Given the description of an element on the screen output the (x, y) to click on. 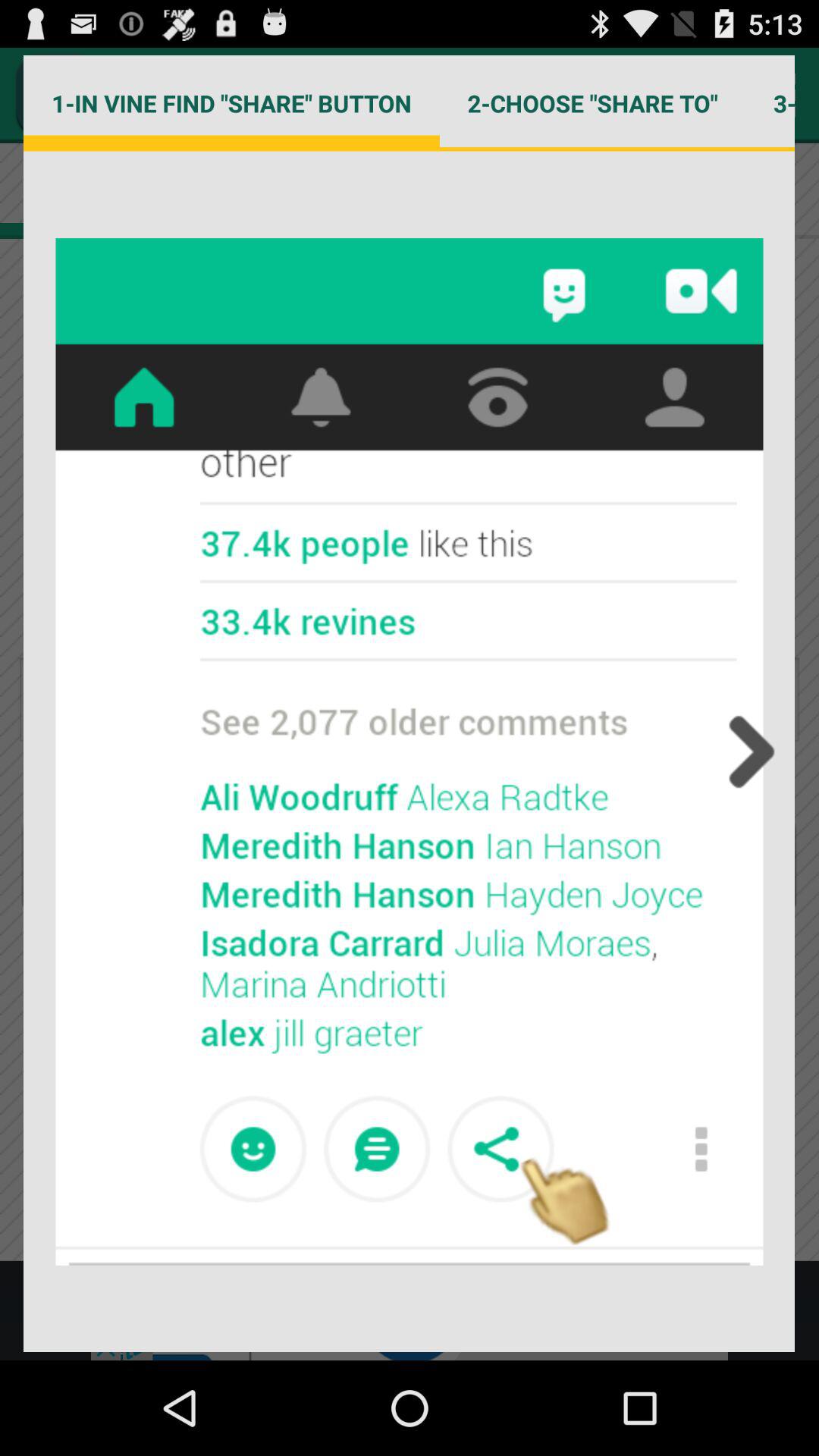
open the item next to 3-choose vdownloadr item (592, 103)
